Given the description of an element on the screen output the (x, y) to click on. 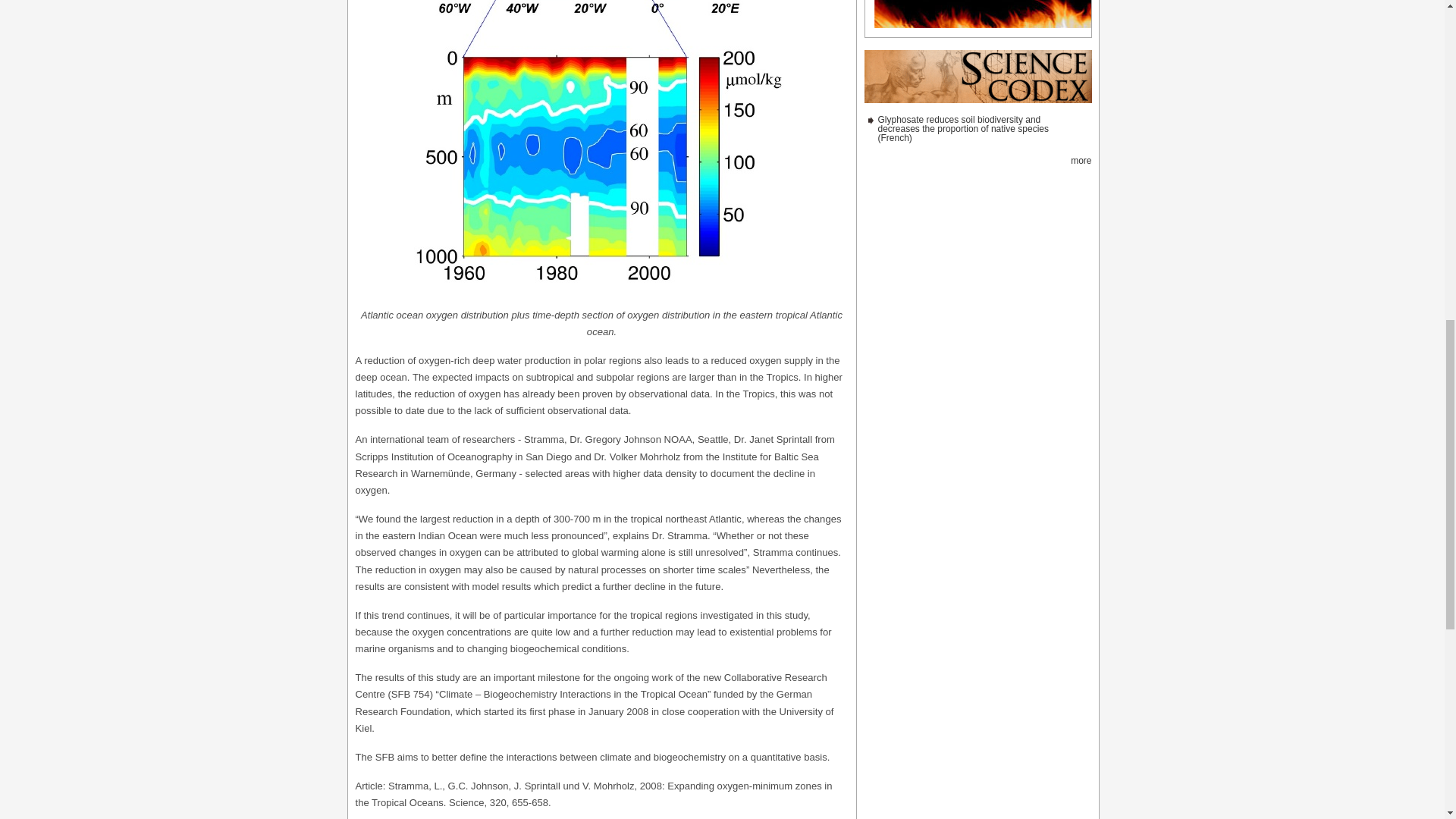
View this feed's recent news. (1080, 160)
